Given the description of an element on the screen output the (x, y) to click on. 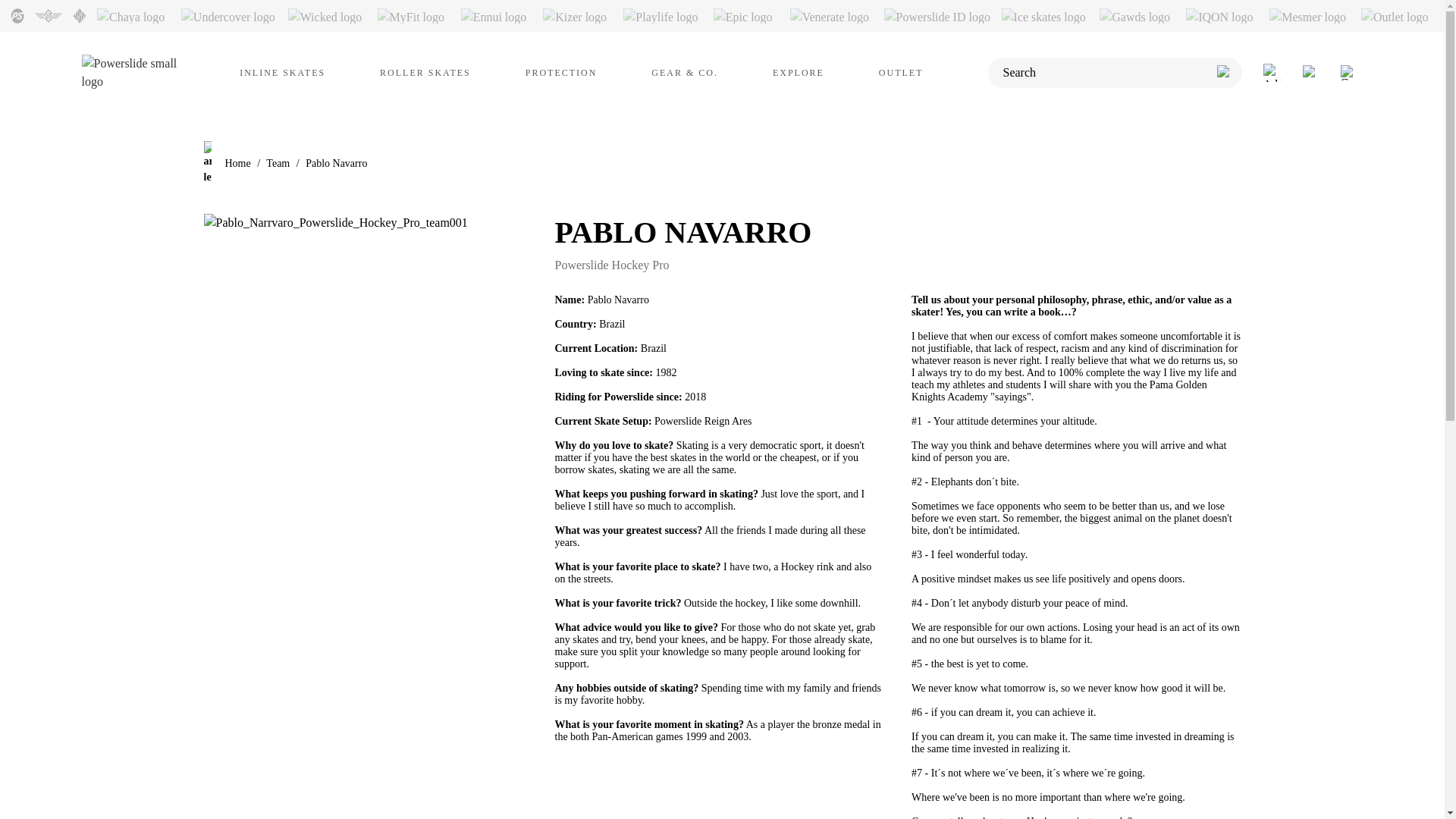
Undercover page (234, 15)
Wicked logo small (332, 15)
Powerslide page (17, 15)
Chaya logo small (138, 15)
MyFit page (419, 15)
Wicked page (332, 15)
Powerslide logo small (17, 15)
USD logo small (79, 15)
INLINE SKATES (282, 72)
Chaya page (138, 15)
USD page (79, 15)
Swing logo small (47, 15)
Undercover logo small (234, 15)
